Given the description of an element on the screen output the (x, y) to click on. 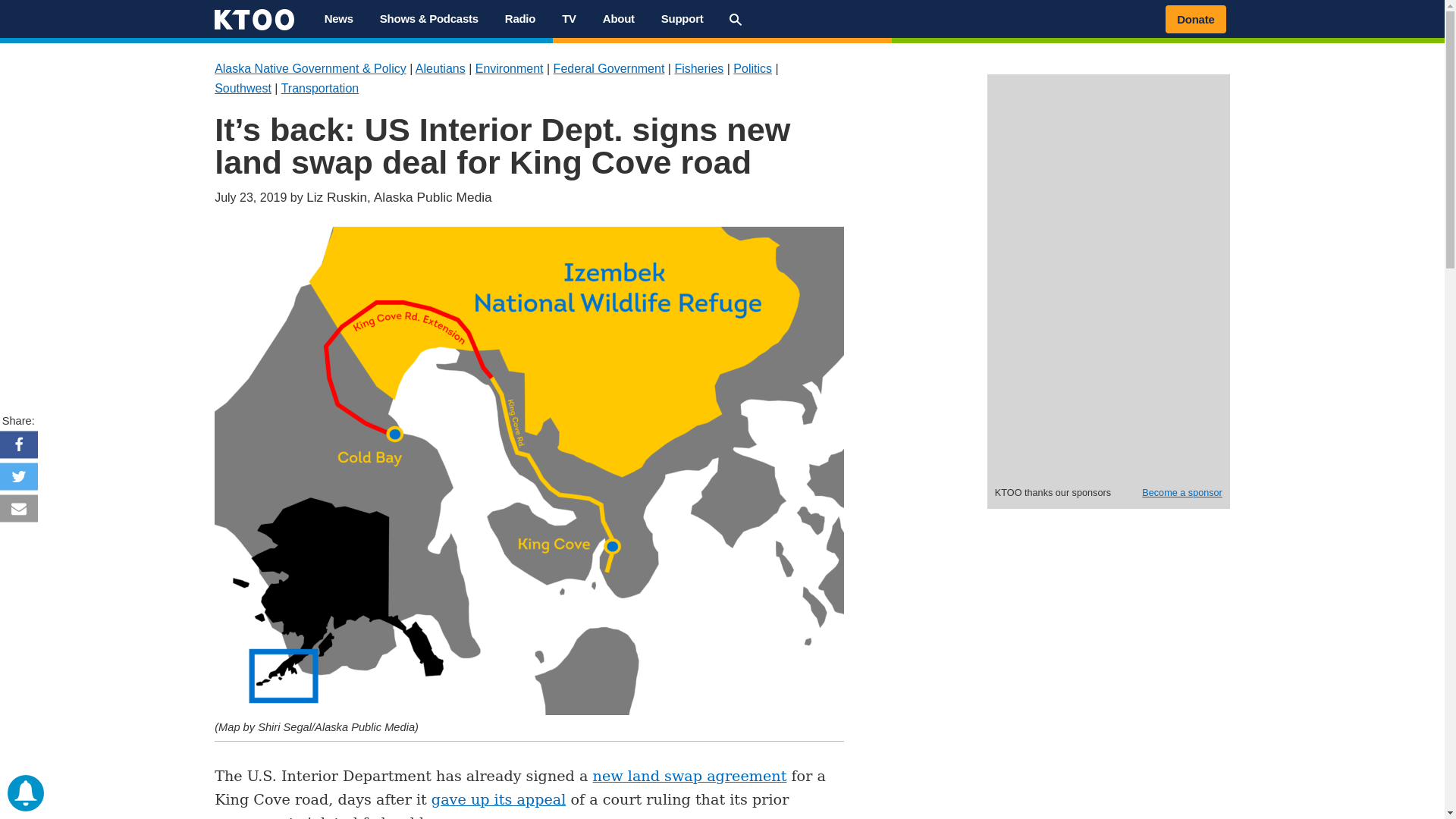
KTOO (239, 37)
Search (735, 19)
News (339, 18)
3rd party ad content (1108, 382)
Site notifications (25, 792)
3rd party ad content (1108, 181)
